Given the description of an element on the screen output the (x, y) to click on. 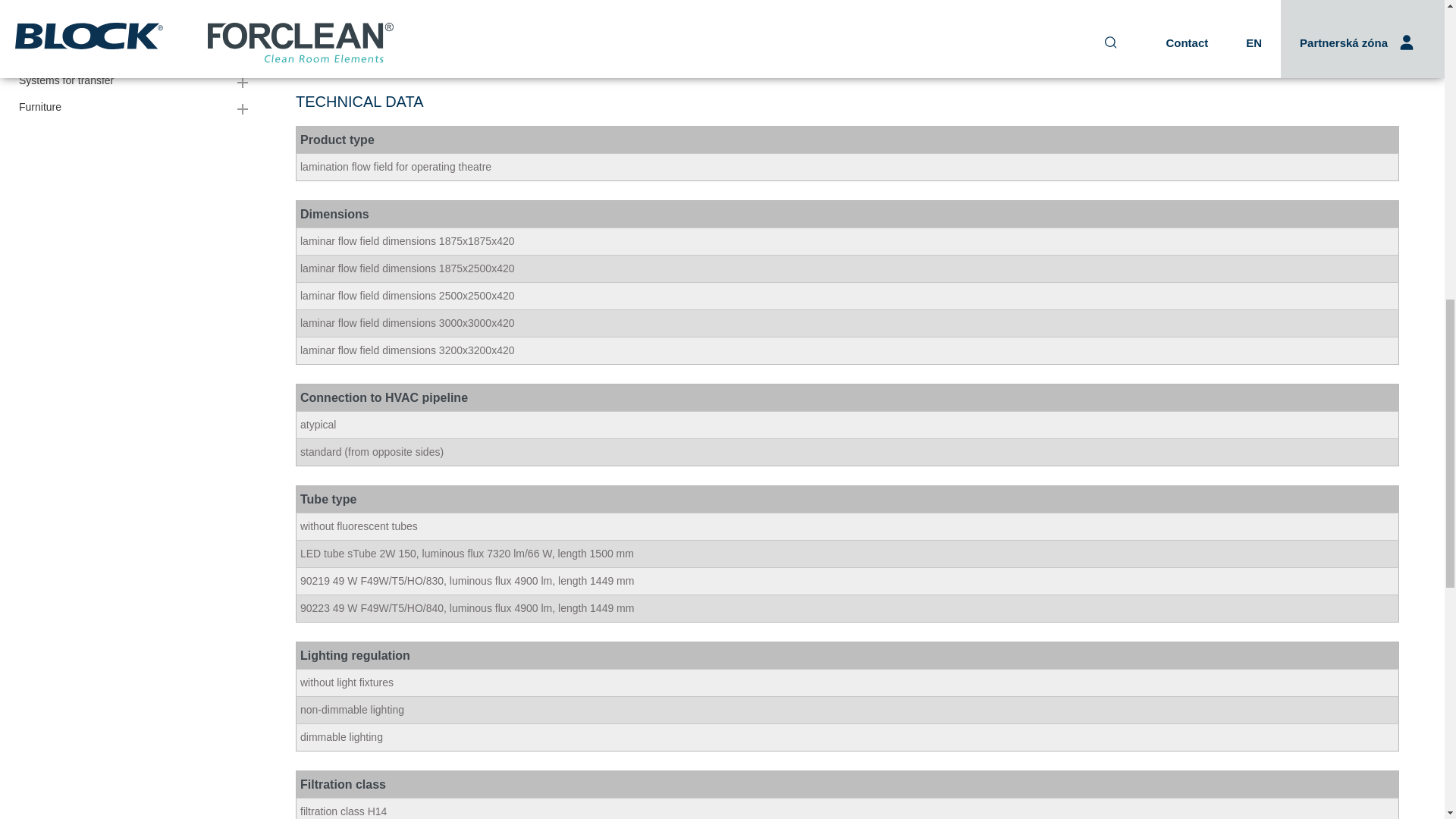
Slovensky (631, 806)
